Given the description of an element on the screen output the (x, y) to click on. 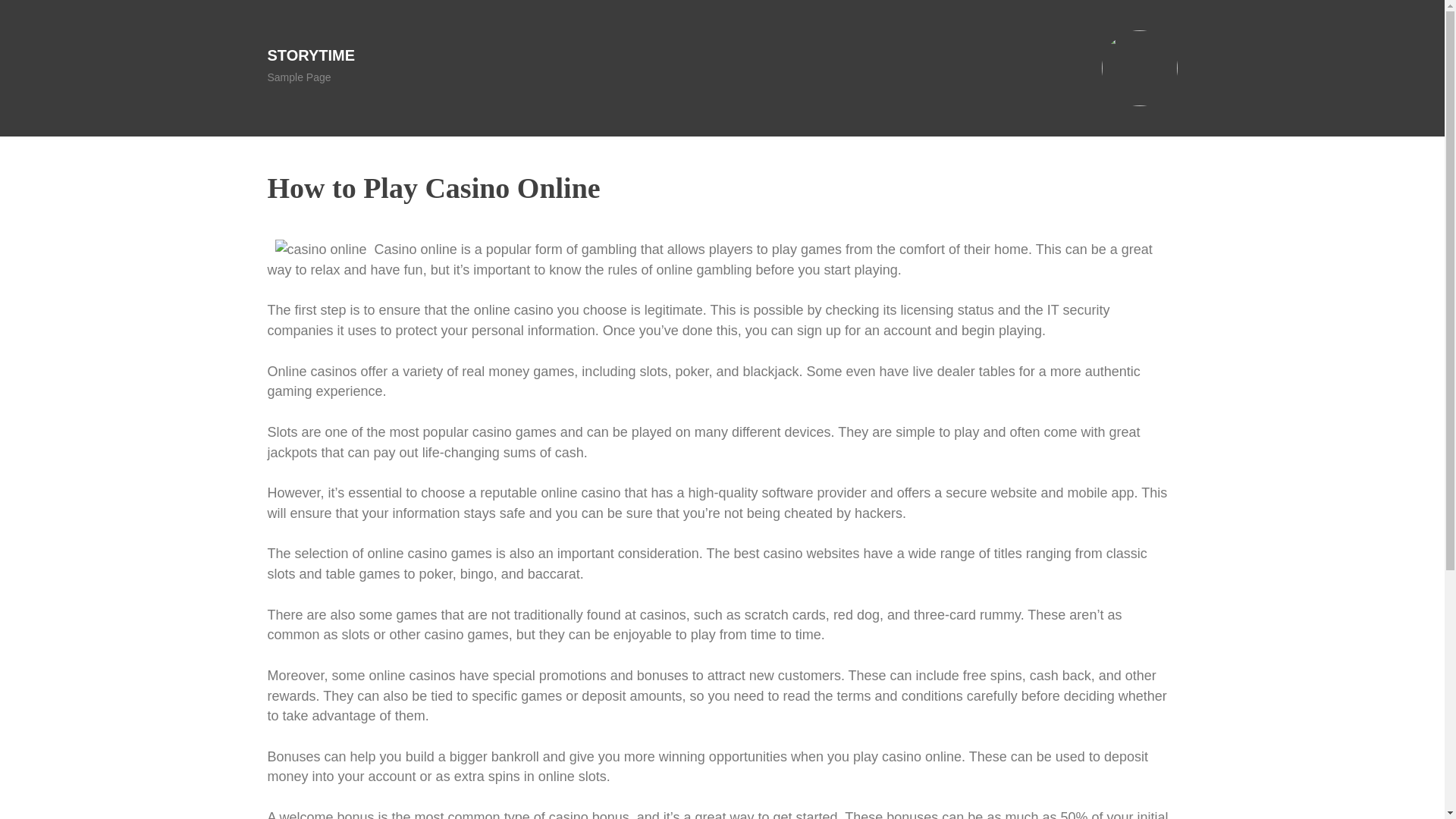
storytime (310, 54)
STORYTIME (310, 54)
Sample Page (298, 77)
